Given the description of an element on the screen output the (x, y) to click on. 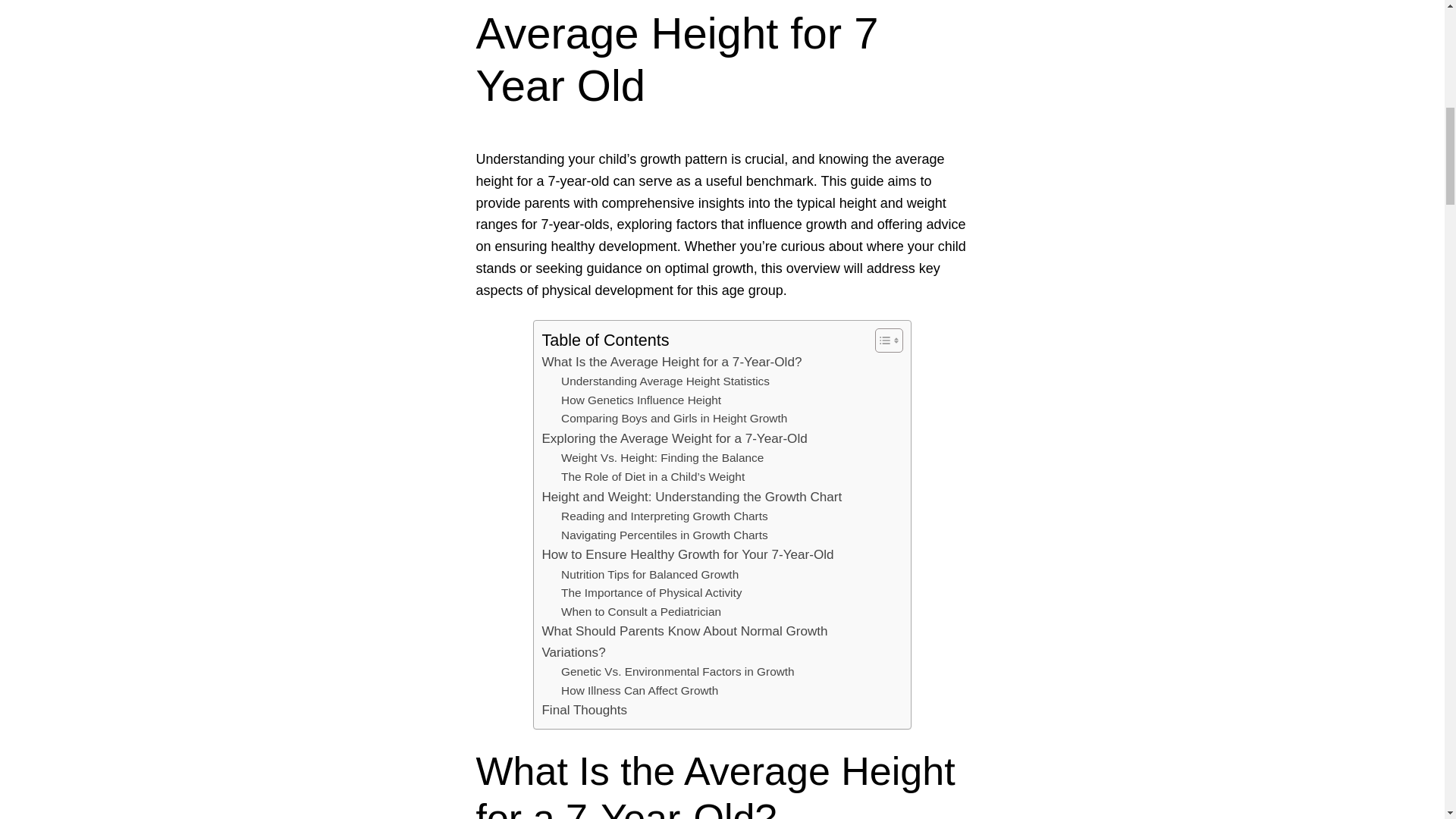
Weight Vs. Height: Finding the Balance (661, 457)
Understanding Average Height Statistics (665, 381)
Exploring the Average Weight for a 7-Year-Old (673, 438)
Nutrition Tips for Balanced Growth (649, 574)
Navigating Percentiles in Growth Charts (664, 535)
When to Consult a Pediatrician (640, 611)
Nutrition Tips for Balanced Growth (649, 574)
Final Thoughts (584, 710)
What Is the Average Height for a 7-Year-Old? (671, 362)
How Illness Can Affect Growth (638, 691)
